Given the description of an element on the screen output the (x, y) to click on. 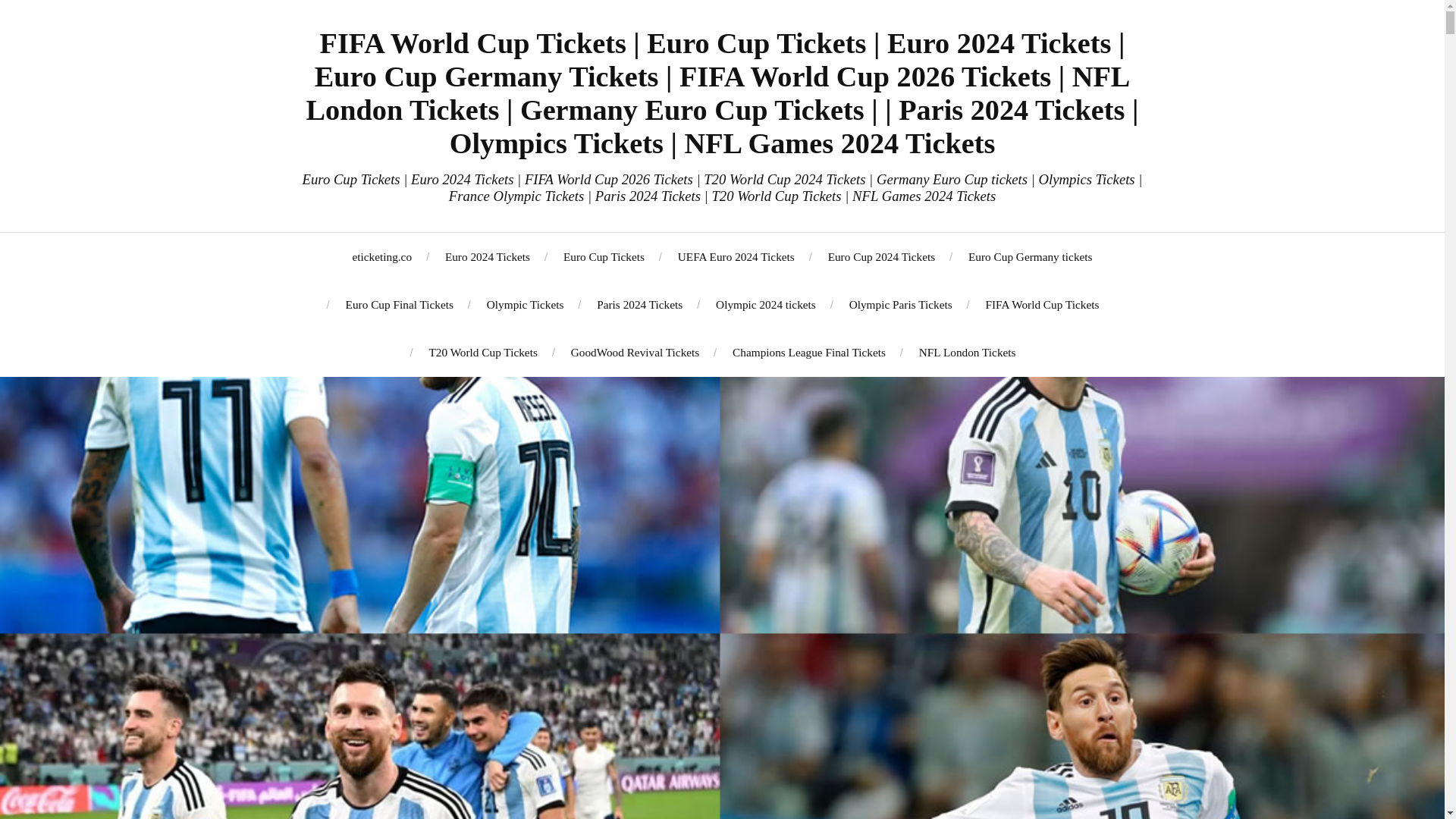
GoodWood Revival Tickets (635, 351)
Euro Cup Tickets (604, 256)
FIFA World Cup Tickets (1042, 304)
UEFA Euro 2024 Tickets (736, 256)
Champions League Final Tickets (808, 351)
Olympic Tickets (525, 304)
Olympic 2024 tickets (765, 304)
Olympic Paris Tickets (900, 304)
Euro Cup Germany tickets (1030, 256)
eticketing.co (382, 256)
Euro Cup 2024 Tickets (882, 256)
Euro 2024 Tickets (487, 256)
NFL London Tickets (967, 351)
Paris 2024 Tickets (639, 304)
T20 World Cup Tickets (482, 351)
